Given the description of an element on the screen output the (x, y) to click on. 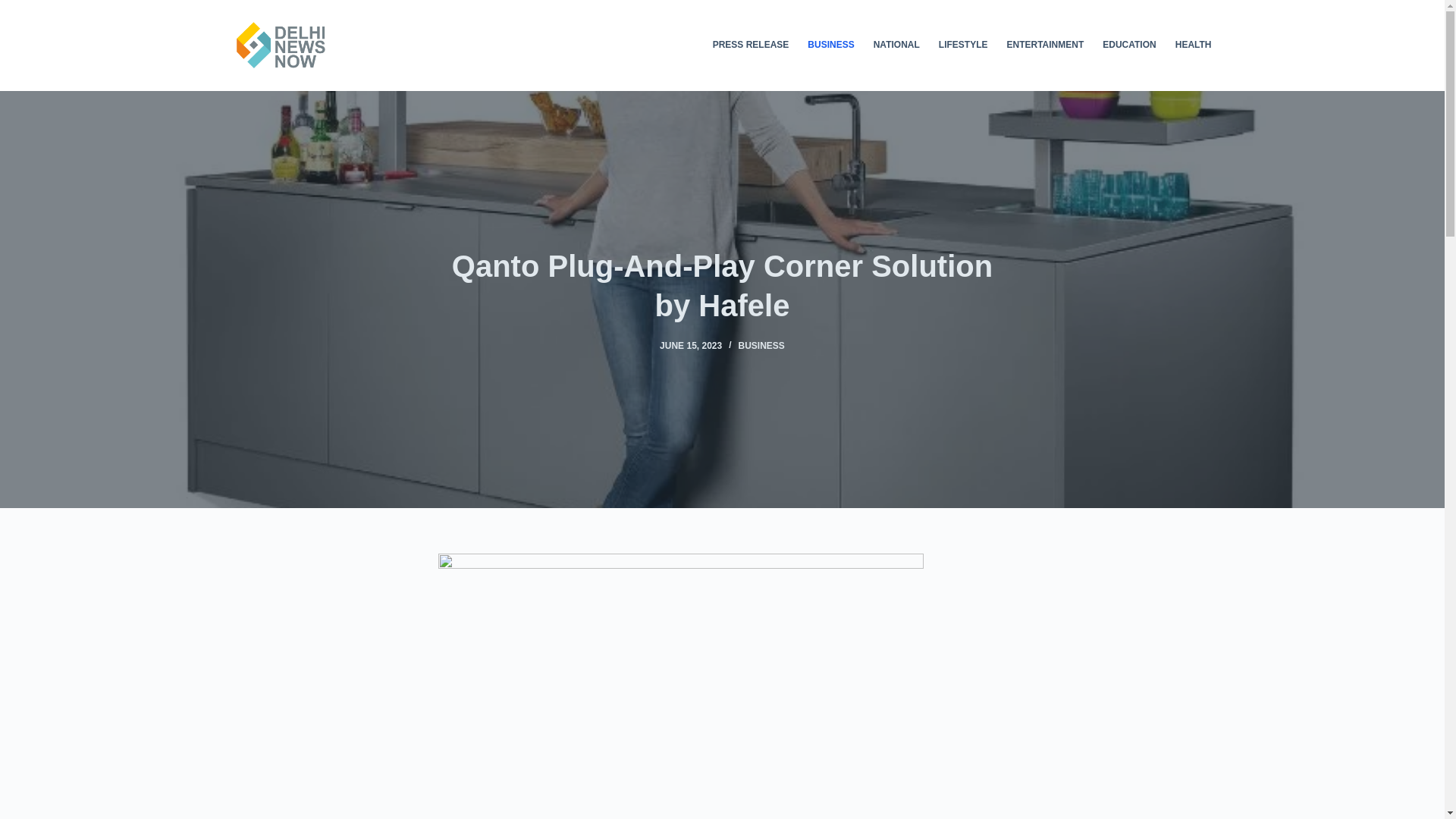
Skip to content (15, 7)
ENTERTAINMENT (1045, 45)
BUSINESS (761, 345)
Qanto Plug-And-Play Corner Solution by Hafele (722, 285)
PRESS RELEASE (750, 45)
